Given the description of an element on the screen output the (x, y) to click on. 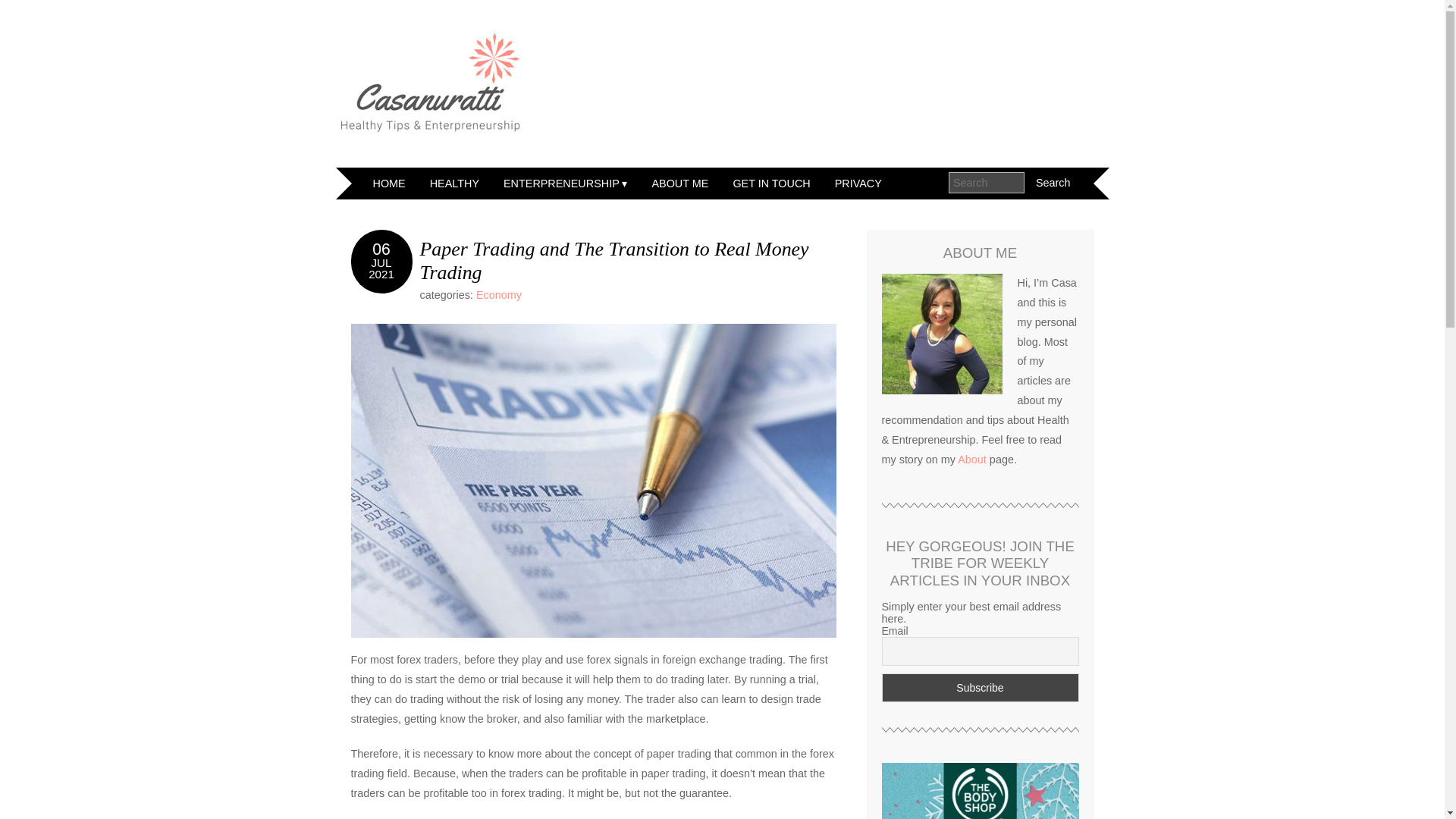
Search (1052, 182)
Subscribe (979, 687)
Economy (498, 295)
Subscribe (979, 687)
Casanuratti (429, 82)
06 (381, 248)
GET IN TOUCH (771, 183)
ABOUT ME (679, 183)
HEALTHY (454, 183)
About (972, 459)
Search (1052, 182)
ENTERPRENEURSHIP (565, 183)
HOME (389, 183)
PRIVACY (858, 183)
Paper Trading and The Transition to Real Money Trading (614, 260)
